Given the description of an element on the screen output the (x, y) to click on. 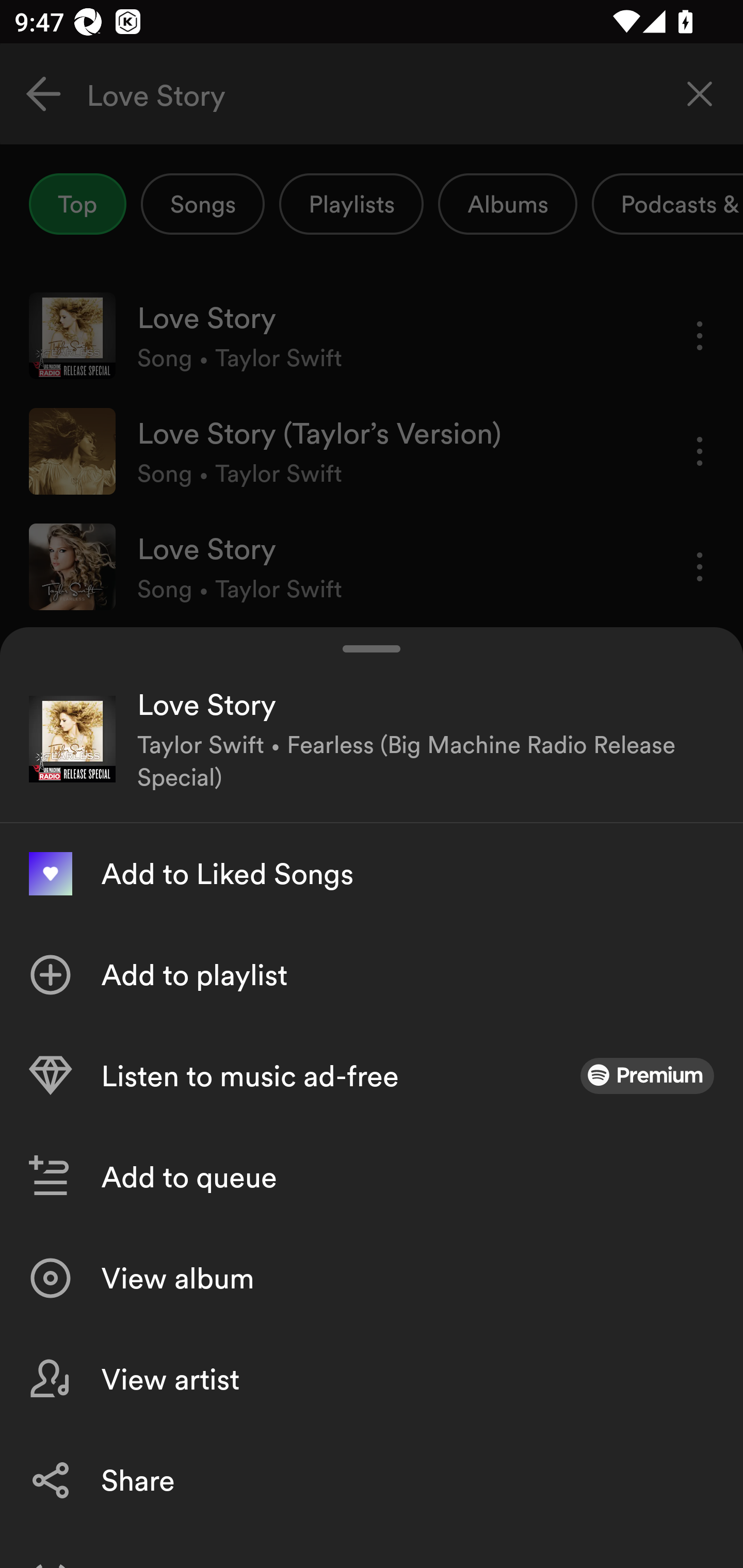
Add to Liked Songs (371, 873)
Add to playlist (371, 974)
Listen to music ad-free (371, 1075)
Add to queue (371, 1176)
View album (371, 1277)
View artist (371, 1379)
Share (371, 1480)
